Given the description of an element on the screen output the (x, y) to click on. 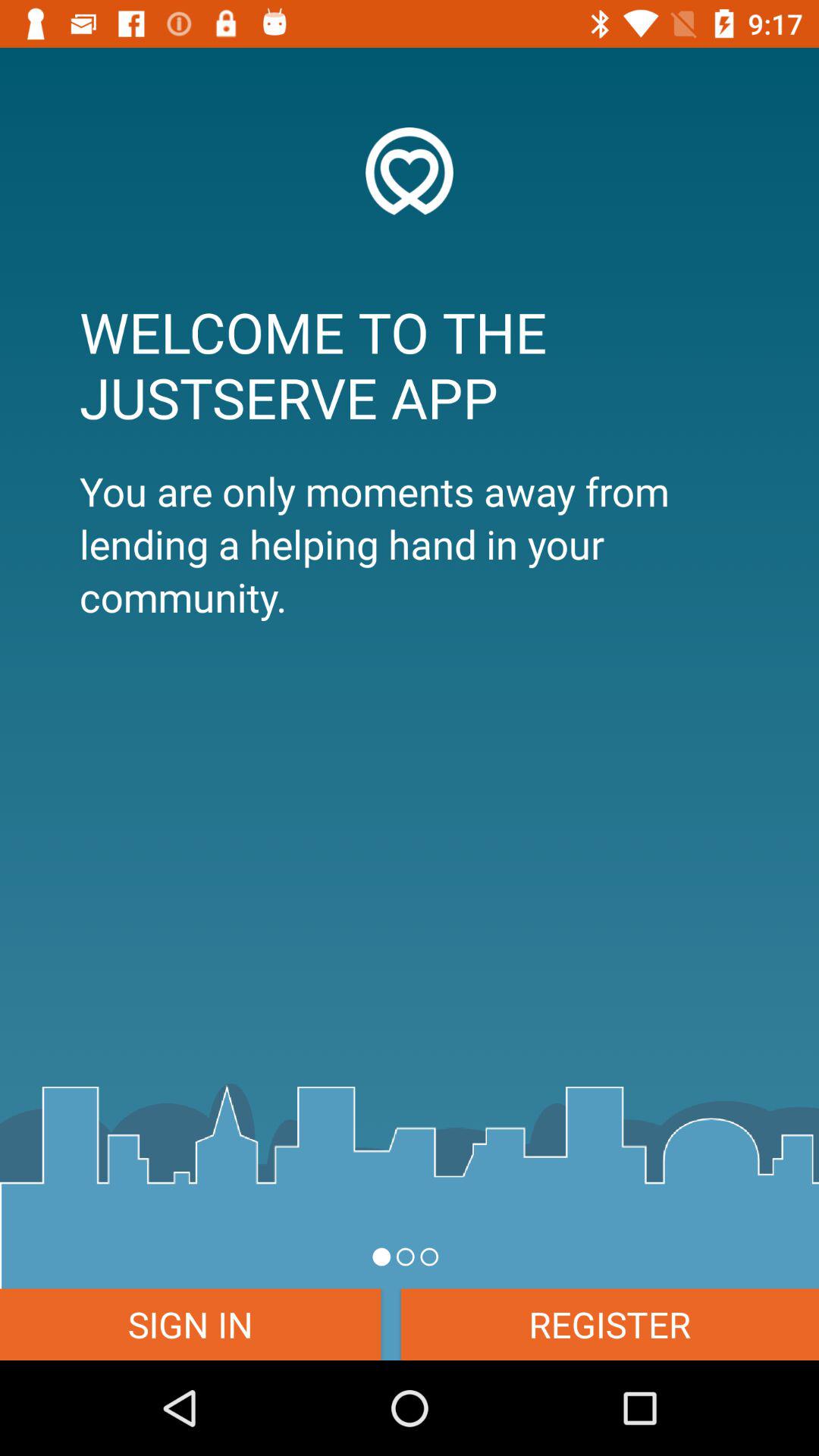
tap icon next to register item (190, 1324)
